Given the description of an element on the screen output the (x, y) to click on. 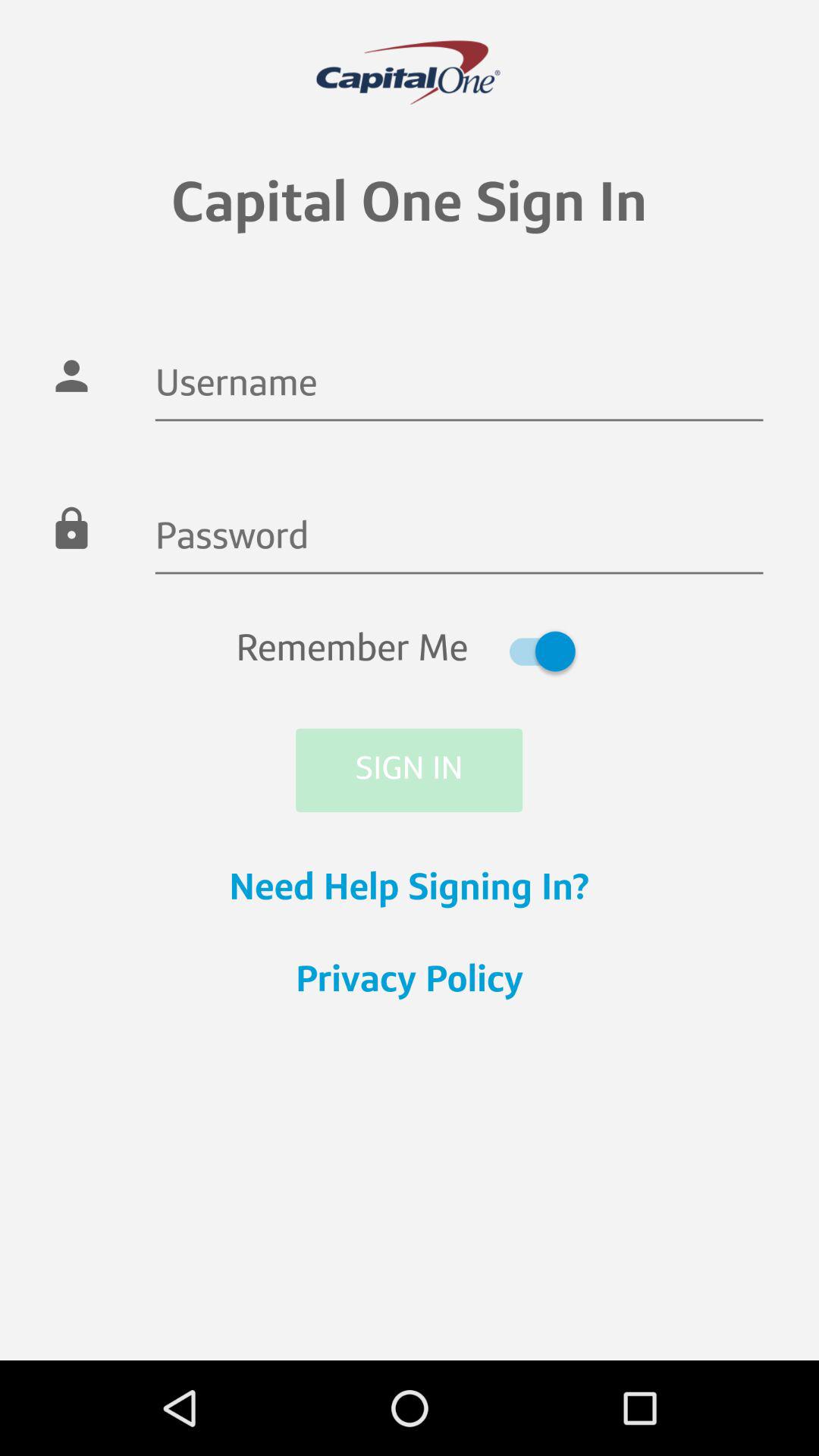
scroll until need help signing item (409, 889)
